Given the description of an element on the screen output the (x, y) to click on. 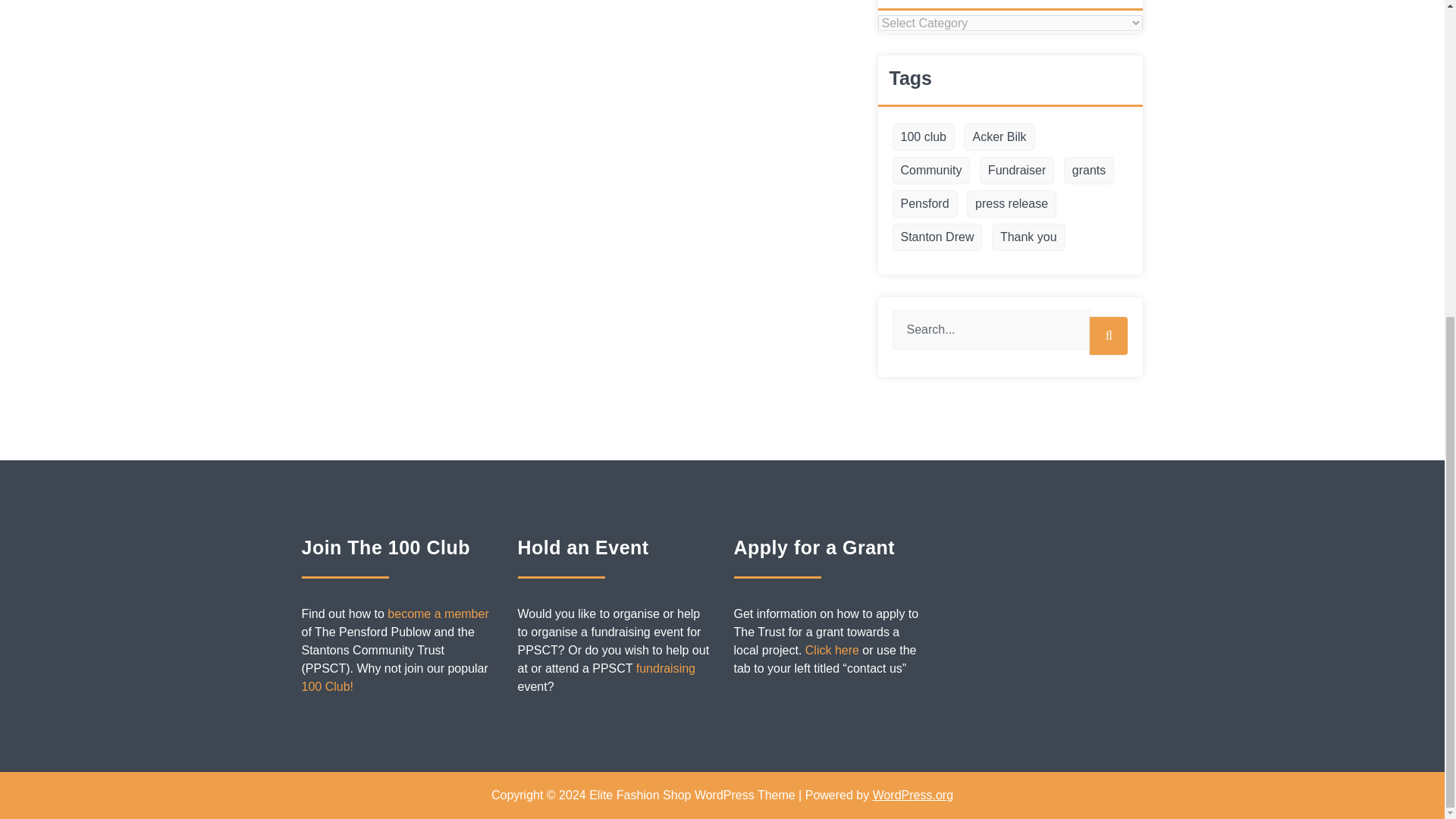
Pensford (924, 203)
Community (931, 170)
fundraise (665, 667)
Acker Bilk (998, 136)
become a member (437, 613)
100 Club (327, 686)
press release (1011, 203)
Thank you (1028, 237)
Stanton Drew (937, 237)
Fundraiser (1015, 170)
100 Club (437, 613)
grants (1088, 170)
100 club (924, 136)
